Given the description of an element on the screen output the (x, y) to click on. 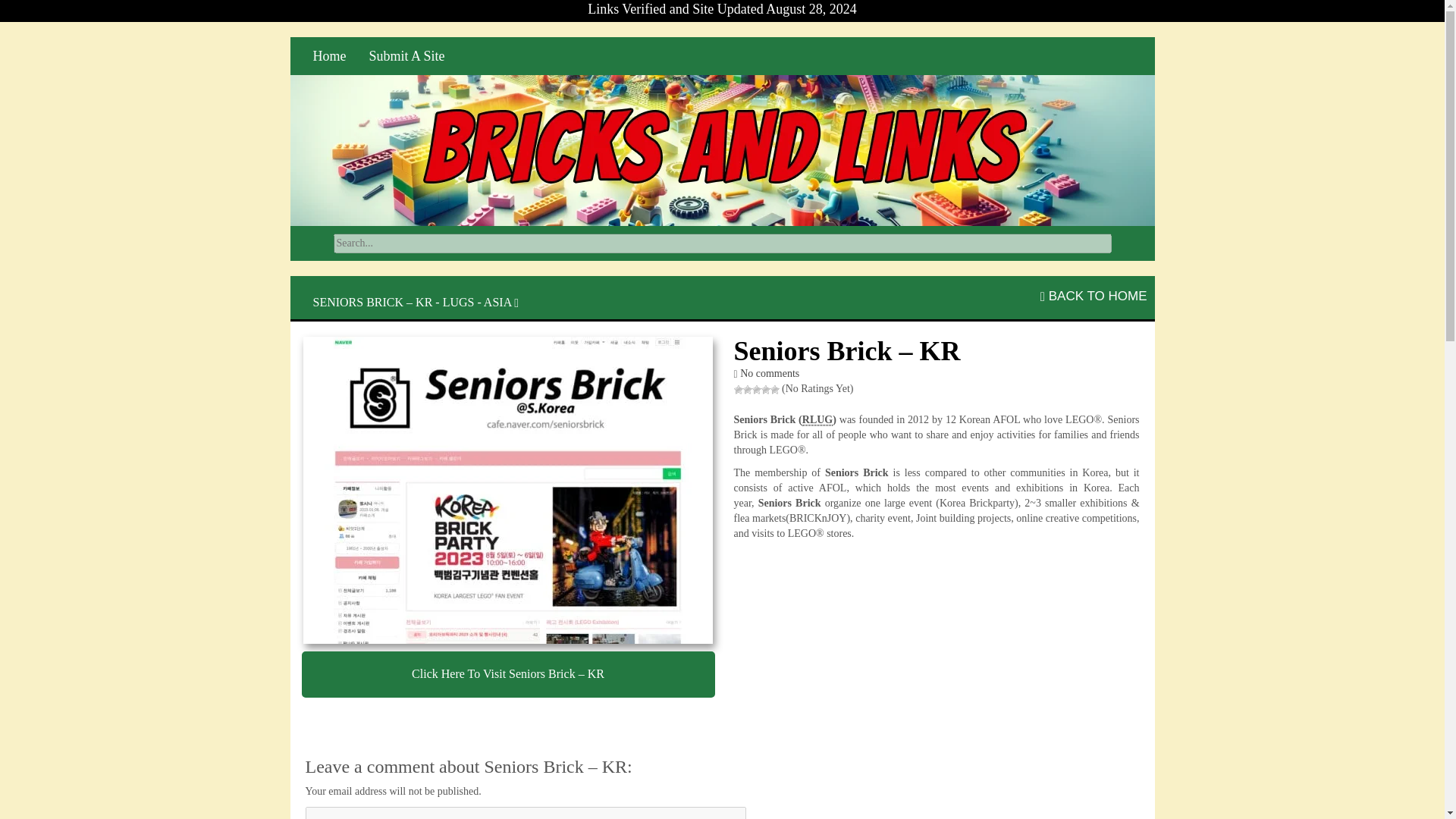
3 Stars (756, 388)
LUGS - ASIA (477, 301)
Submit A Site (407, 55)
Recognized LEGO User Group (817, 419)
5 Stars (774, 388)
2 Stars (747, 388)
1 Star (737, 388)
No comments (769, 373)
4 Stars (765, 388)
Home (329, 55)
